Given the description of an element on the screen output the (x, y) to click on. 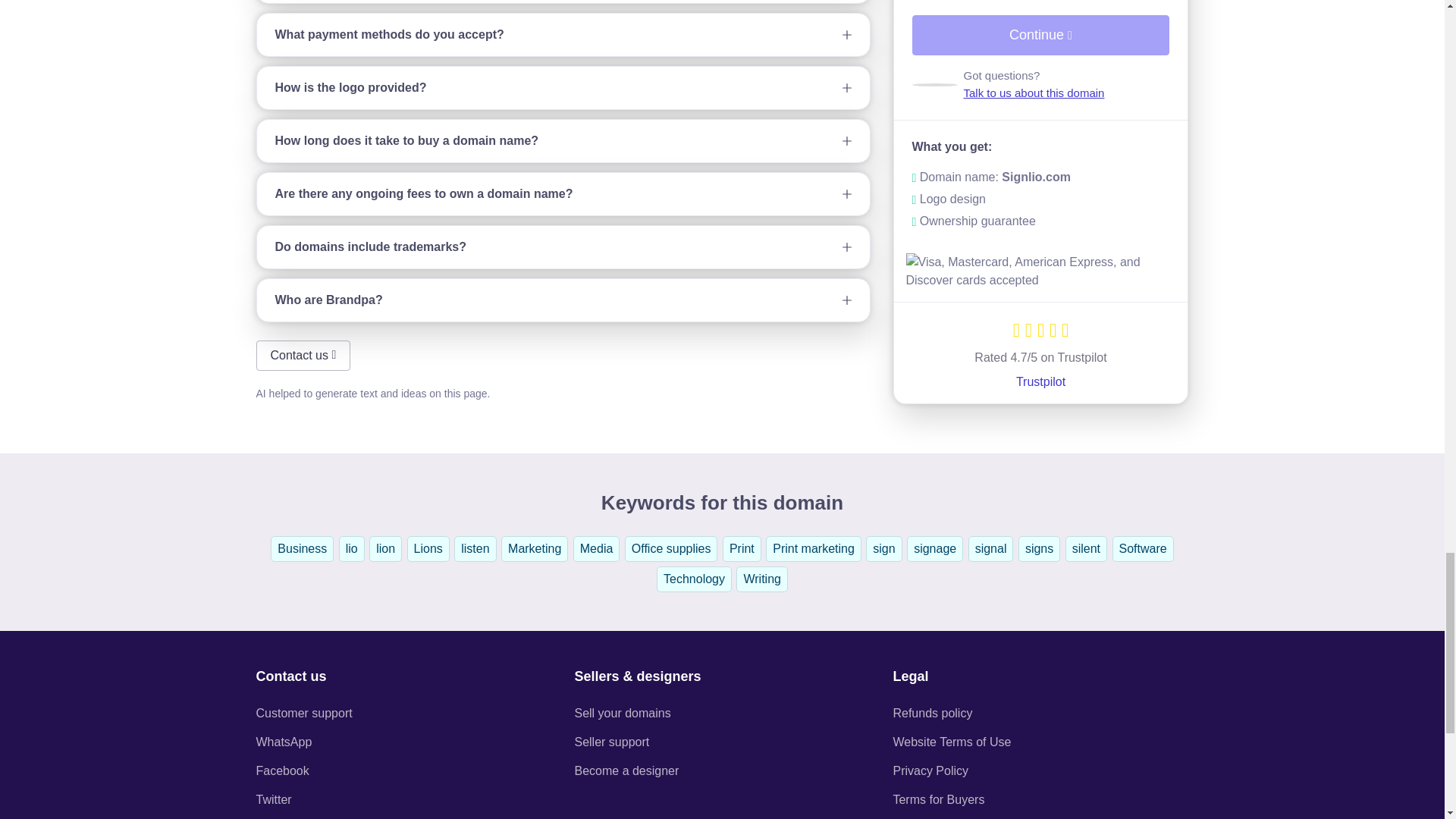
How long does it take to buy a domain name? (562, 140)
What payment methods do you accept? (562, 34)
Do domains include trademarks? (562, 247)
How is the logo provided? (562, 87)
Are there any ongoing fees to own a domain name? (562, 193)
